Given the description of an element on the screen output the (x, y) to click on. 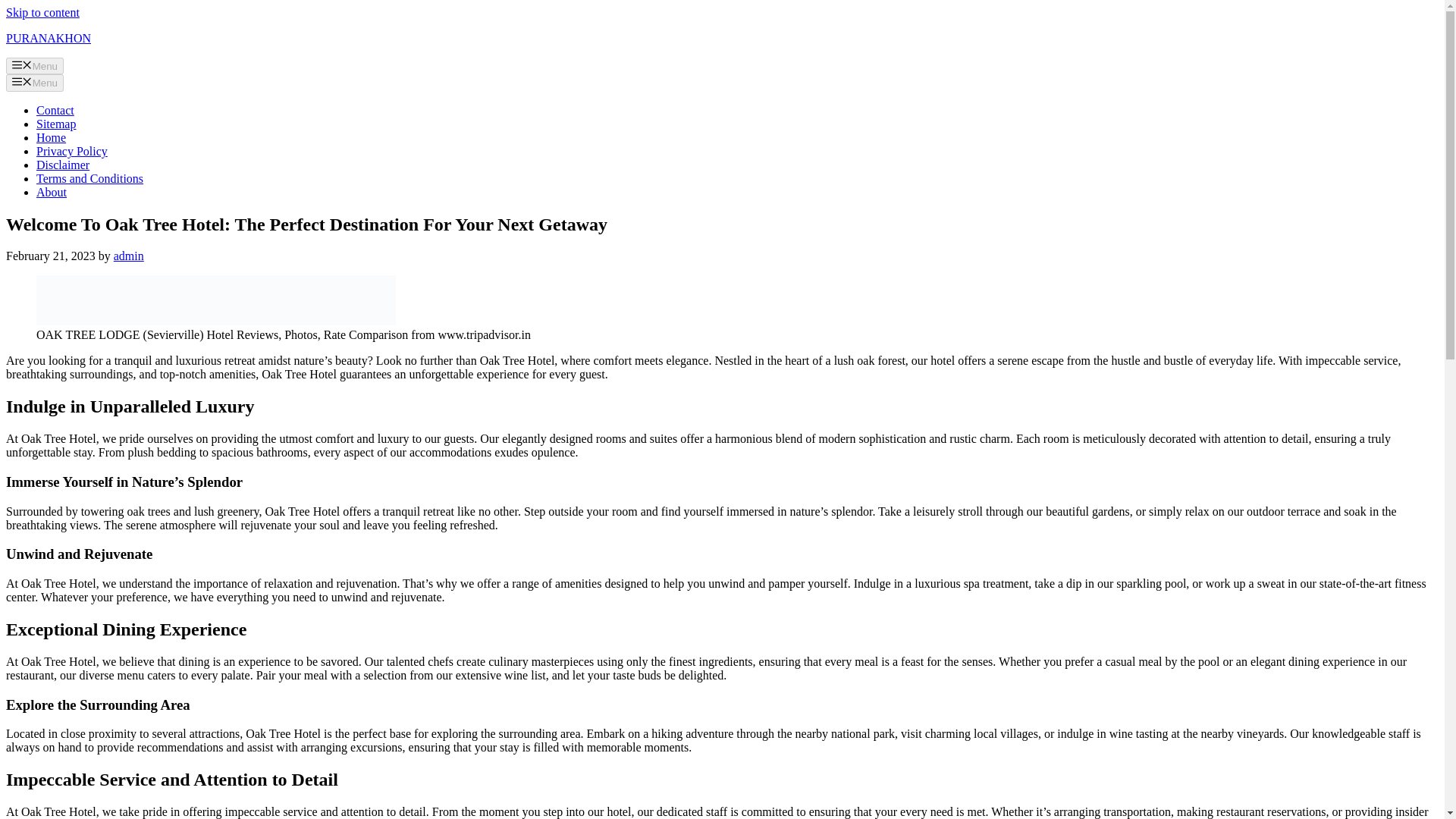
Home (50, 137)
PURANAKHON (47, 38)
Skip to content (42, 11)
admin (128, 255)
Disclaimer (62, 164)
Menu (34, 65)
Terms and Conditions (89, 178)
View all posts by admin (128, 255)
Menu (34, 82)
Privacy Policy (71, 151)
Contact (55, 110)
Sitemap (55, 123)
Skip to content (42, 11)
About (51, 192)
